Given the description of an element on the screen output the (x, y) to click on. 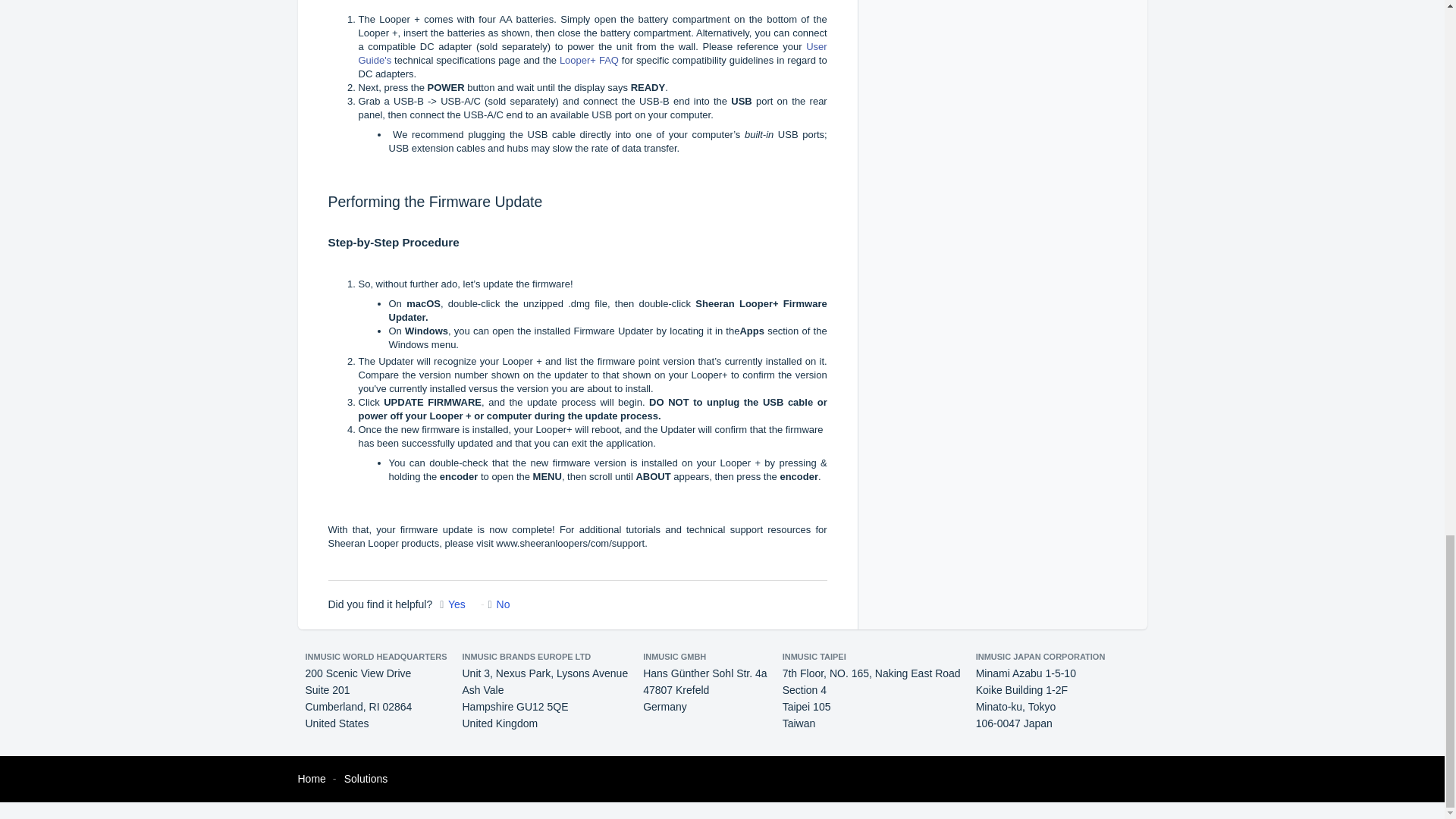
 User Guide's (592, 53)
